Given the description of an element on the screen output the (x, y) to click on. 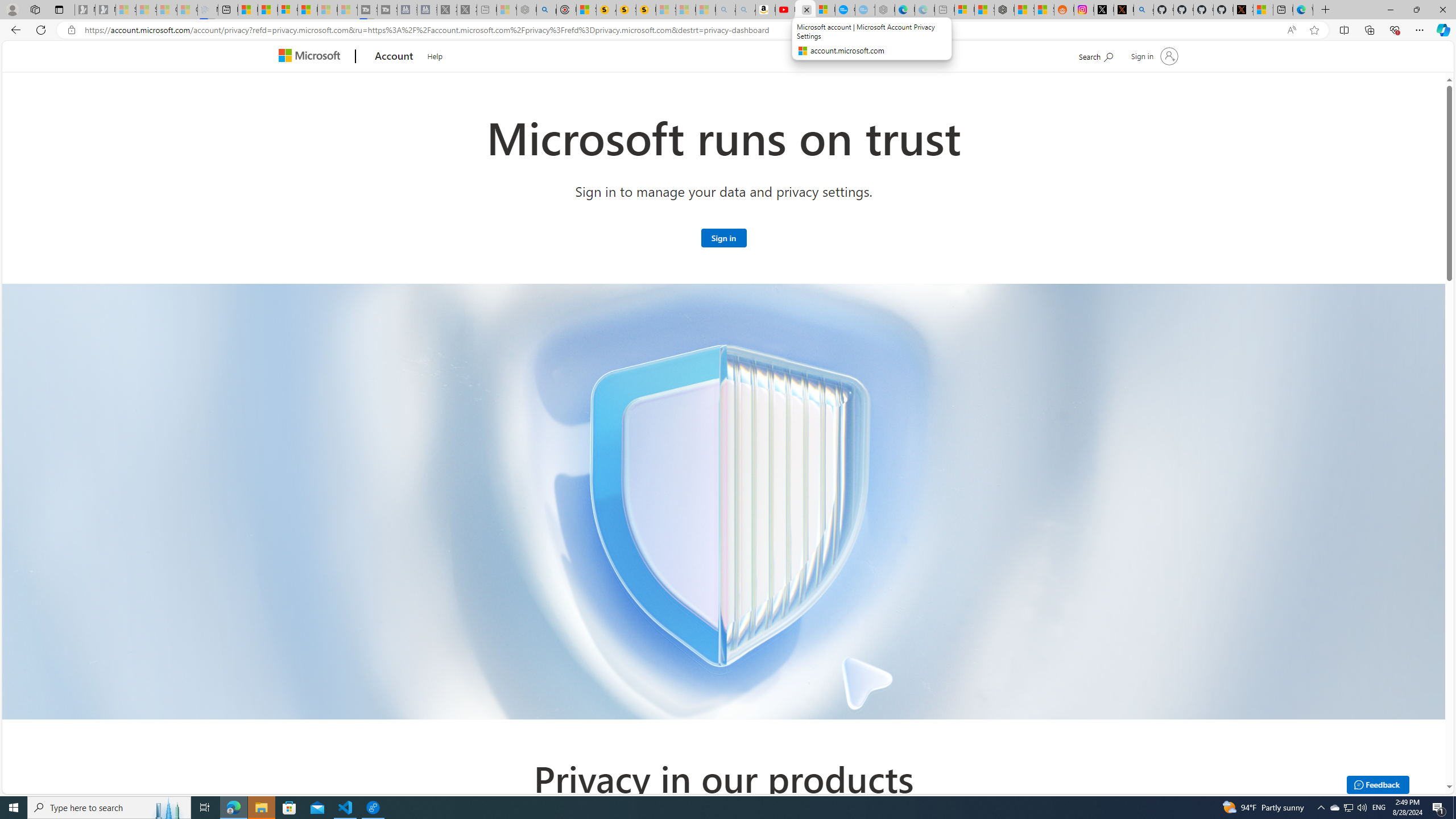
Search Microsoft.com (1095, 54)
Help (435, 54)
Nordace - Duffels (1004, 9)
Nordace - Nordace has arrived Hong Kong - Sleeping (884, 9)
poe - Search (546, 9)
Opinion: Op-Ed and Commentary - USA TODAY (844, 9)
Welcome to Microsoft Edge (1302, 9)
Streaming Coverage | T3 - Sleeping (366, 9)
